Given the description of an element on the screen output the (x, y) to click on. 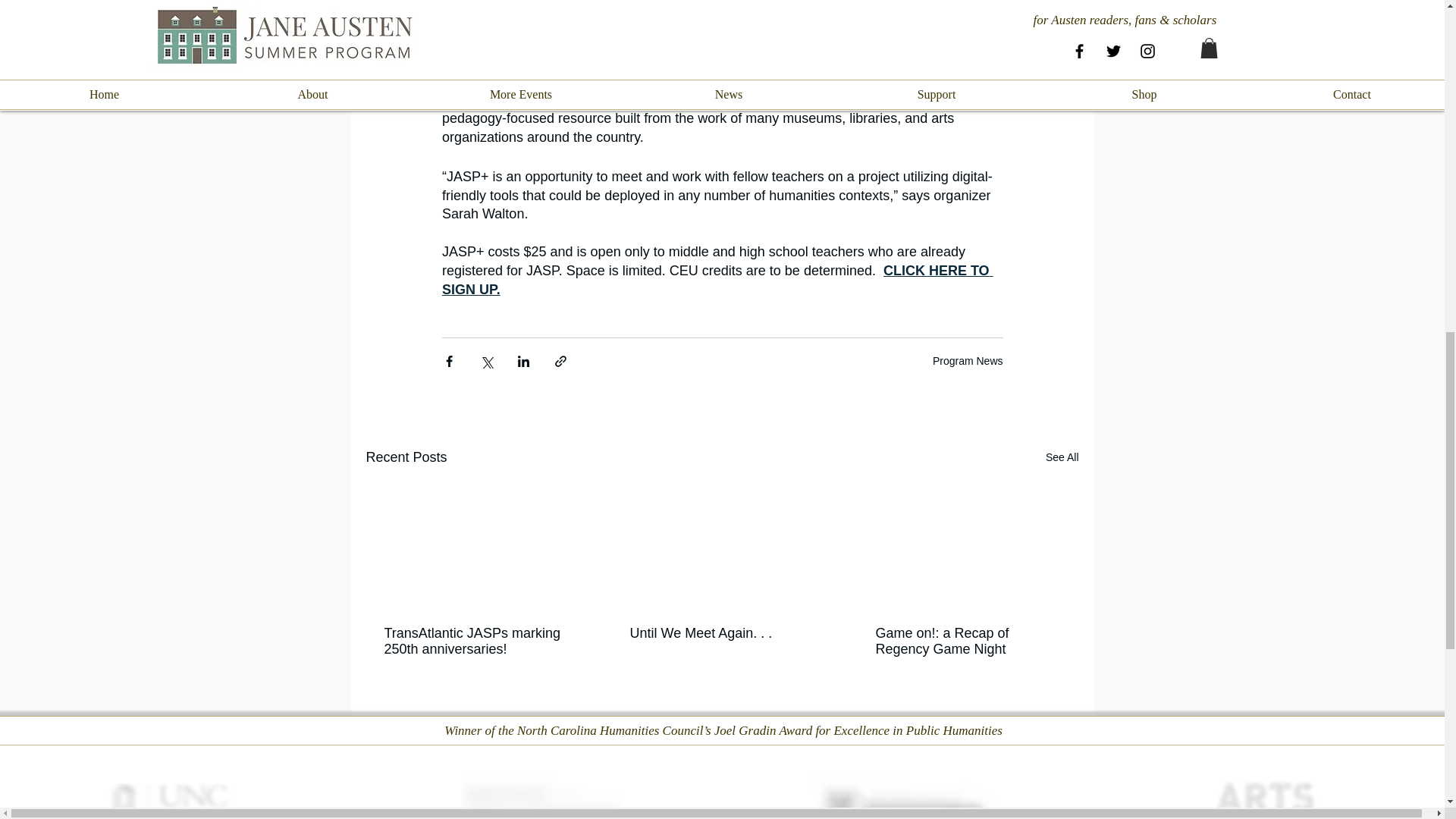
Humanities in Class Digital Library (813, 99)
